Given the description of an element on the screen output the (x, y) to click on. 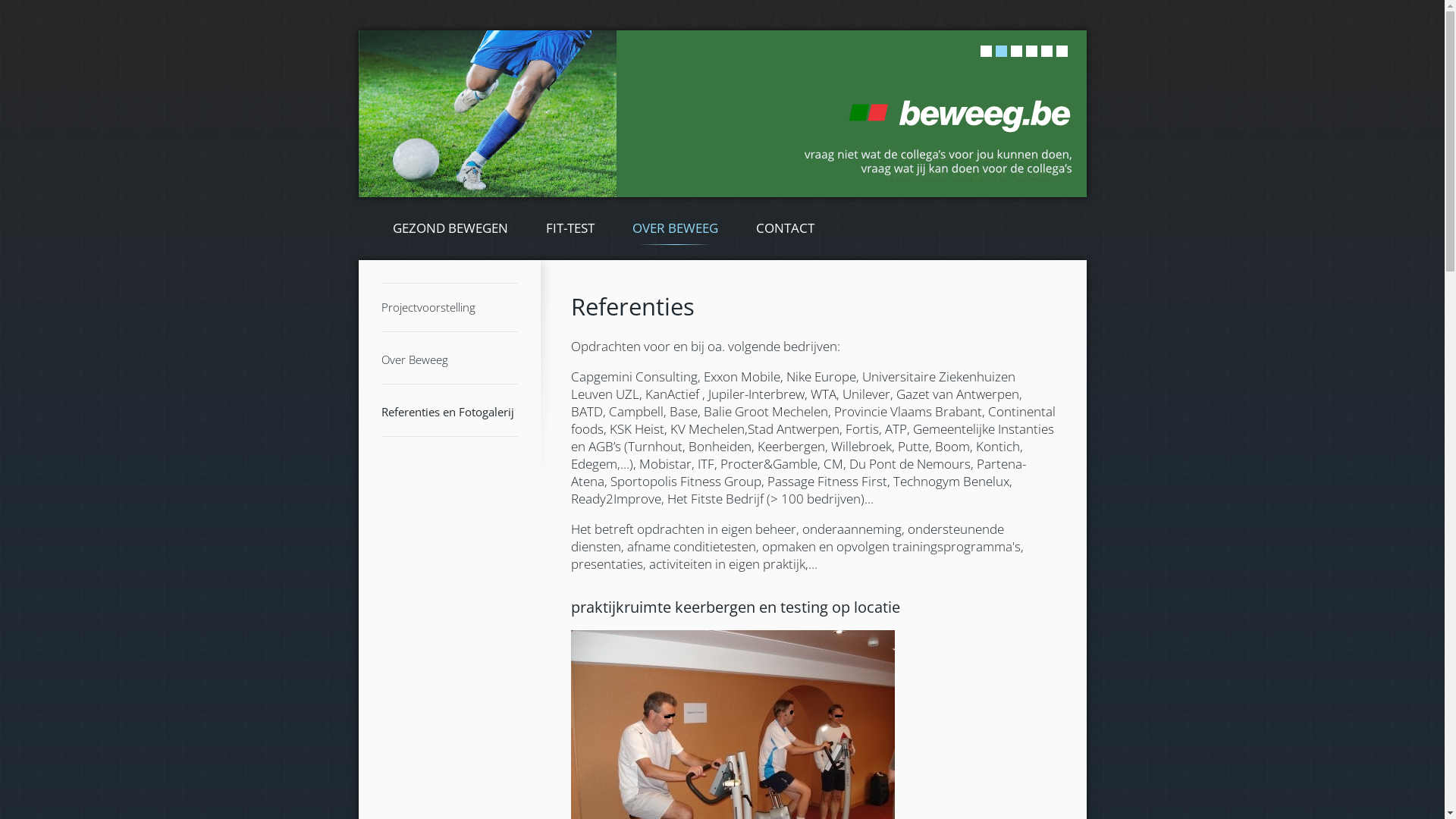
CONTACT Element type: text (785, 228)
GEZOND BEWEGEN Element type: text (449, 228)
Referenties en Fotogalerij Element type: text (446, 411)
OVER BEWEEG Element type: text (674, 228)
Over Beweeg Element type: text (413, 359)
Projectvoorstelling Element type: text (427, 306)
FIT-TEST Element type: text (569, 228)
